Given the description of an element on the screen output the (x, y) to click on. 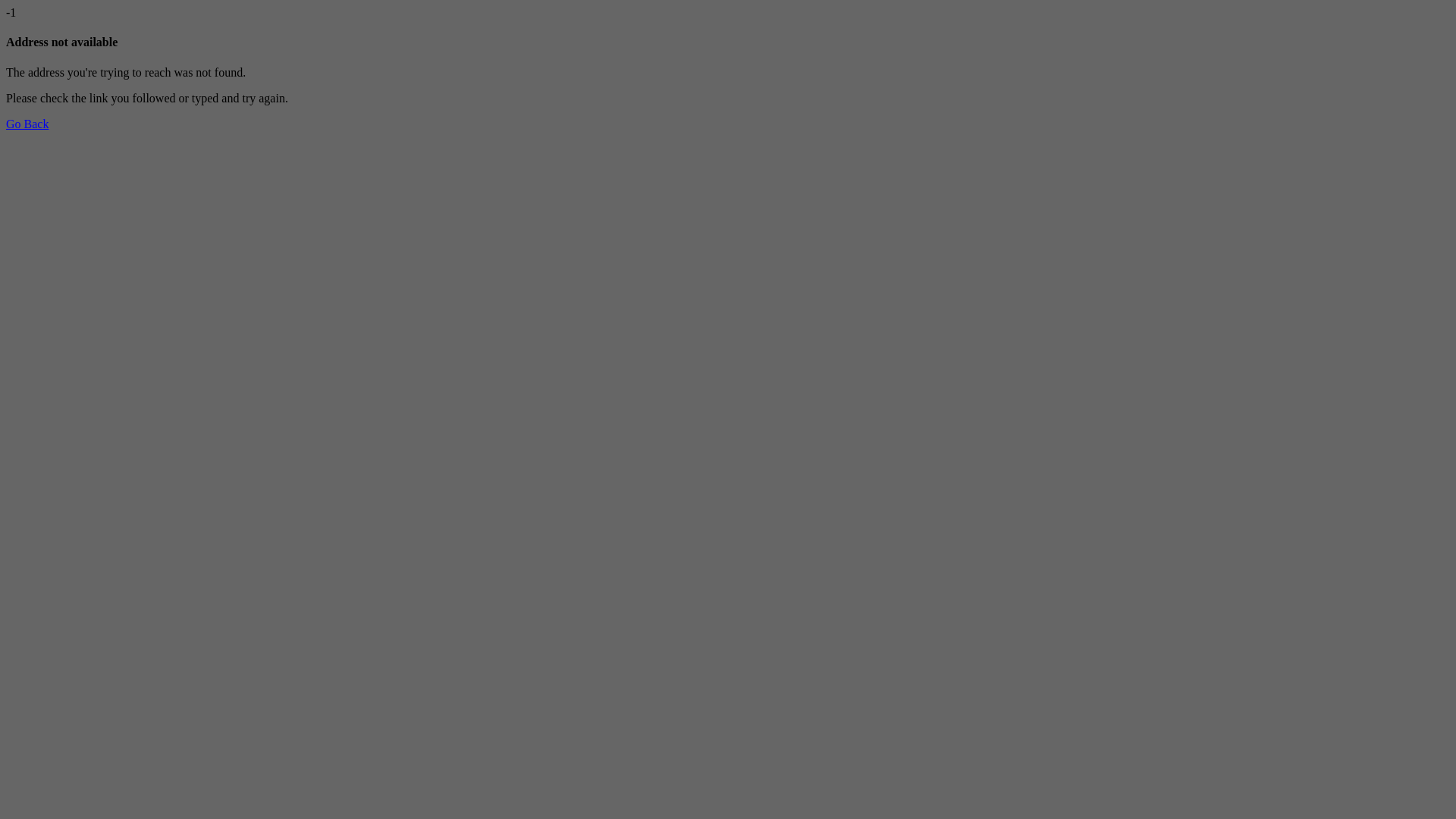
Go Back Element type: text (27, 123)
